Given the description of an element on the screen output the (x, y) to click on. 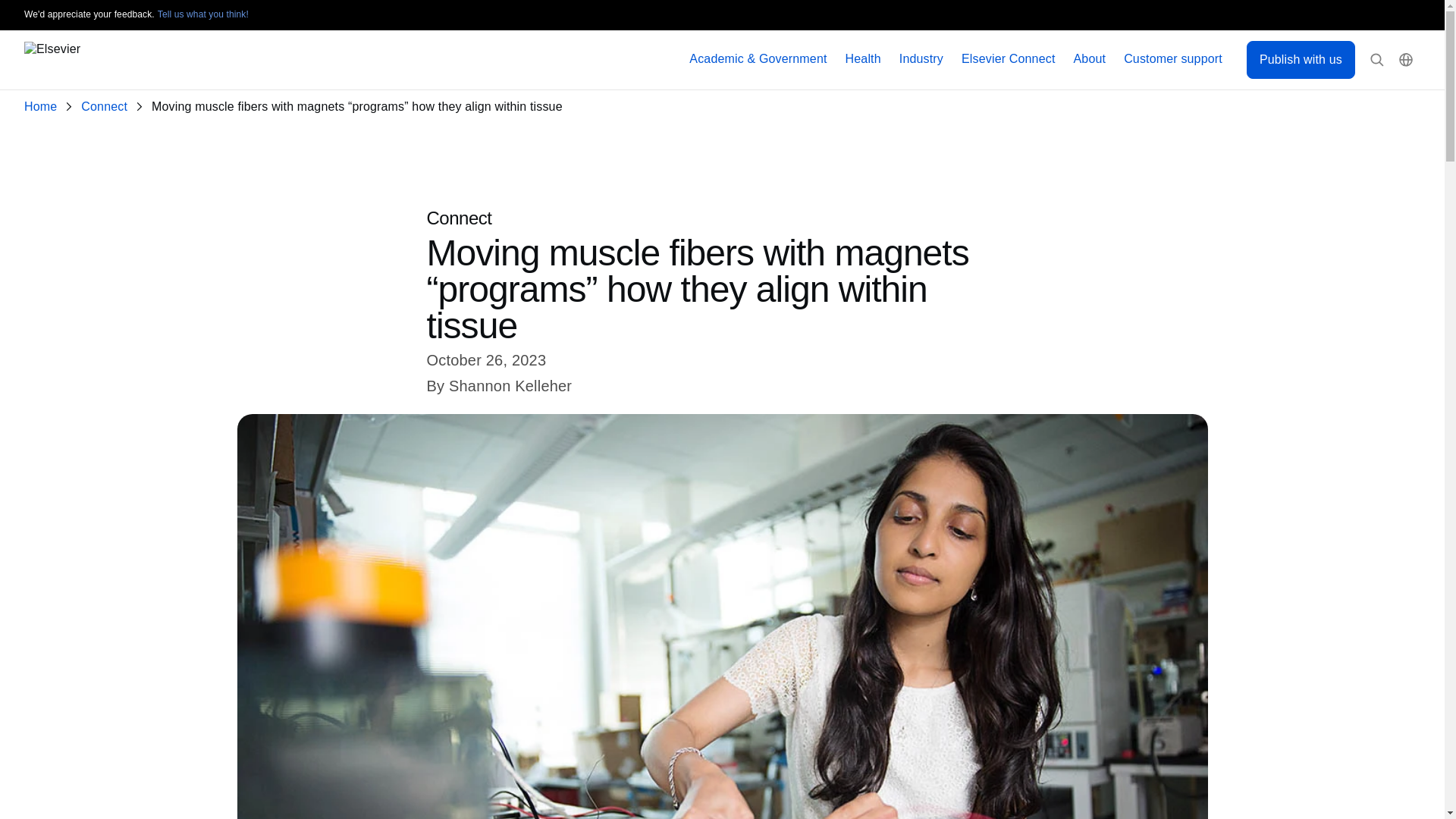
Home (43, 107)
Industry (921, 59)
About (1090, 59)
Open Search (1376, 59)
Connect (107, 107)
Location Selector (1406, 59)
Elsevier Connect (1007, 59)
Customer support (1173, 59)
Health (862, 59)
Publish with us (1300, 59)
